Given the description of an element on the screen output the (x, y) to click on. 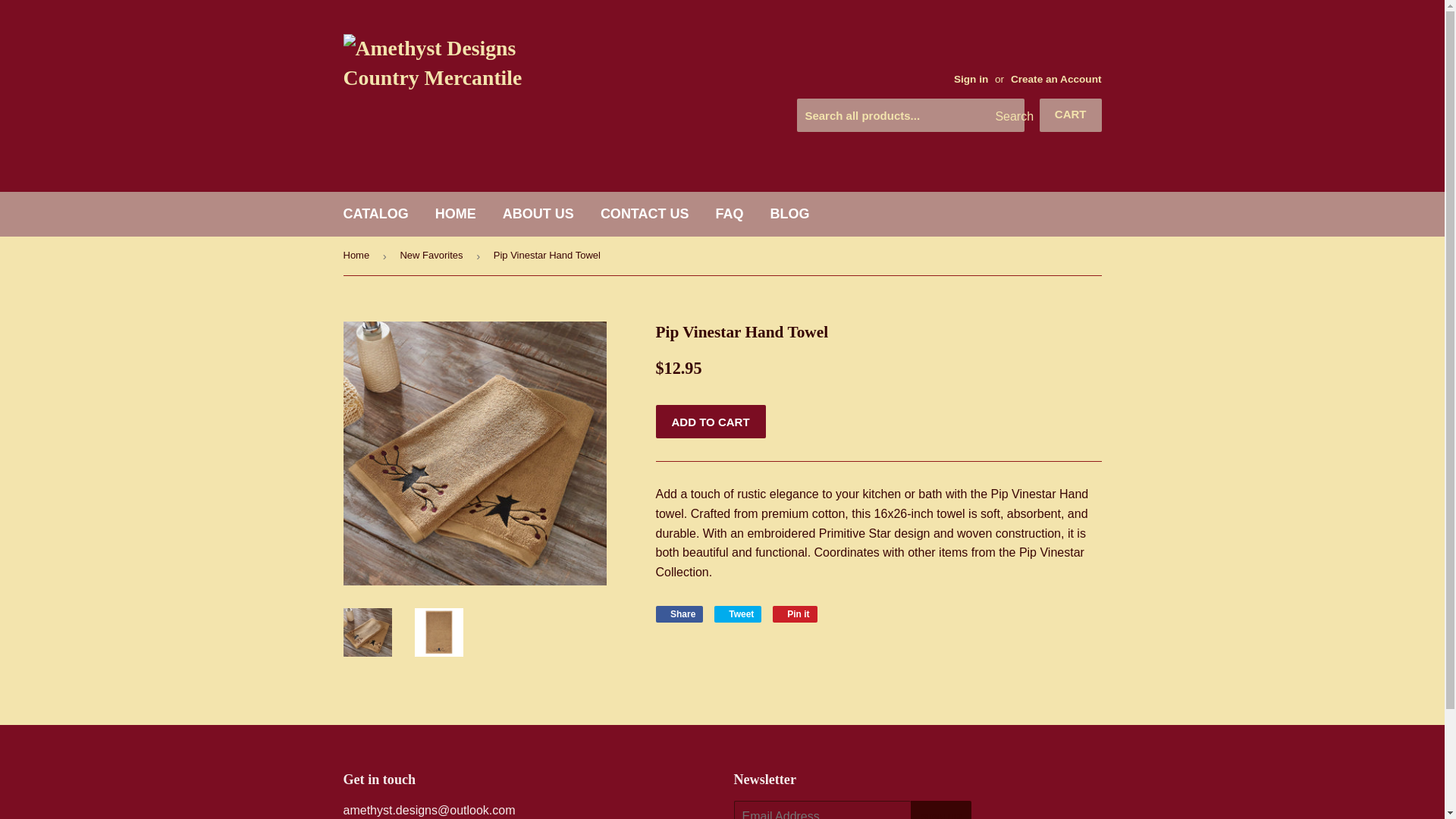
ABOUT US (538, 213)
BLOG (789, 213)
Create an Account (1056, 79)
SIGN UP (737, 614)
New Favorites (941, 809)
CATALOG (432, 255)
Share on Facebook (375, 213)
CART (679, 614)
FAQ (1070, 114)
